Given the description of an element on the screen output the (x, y) to click on. 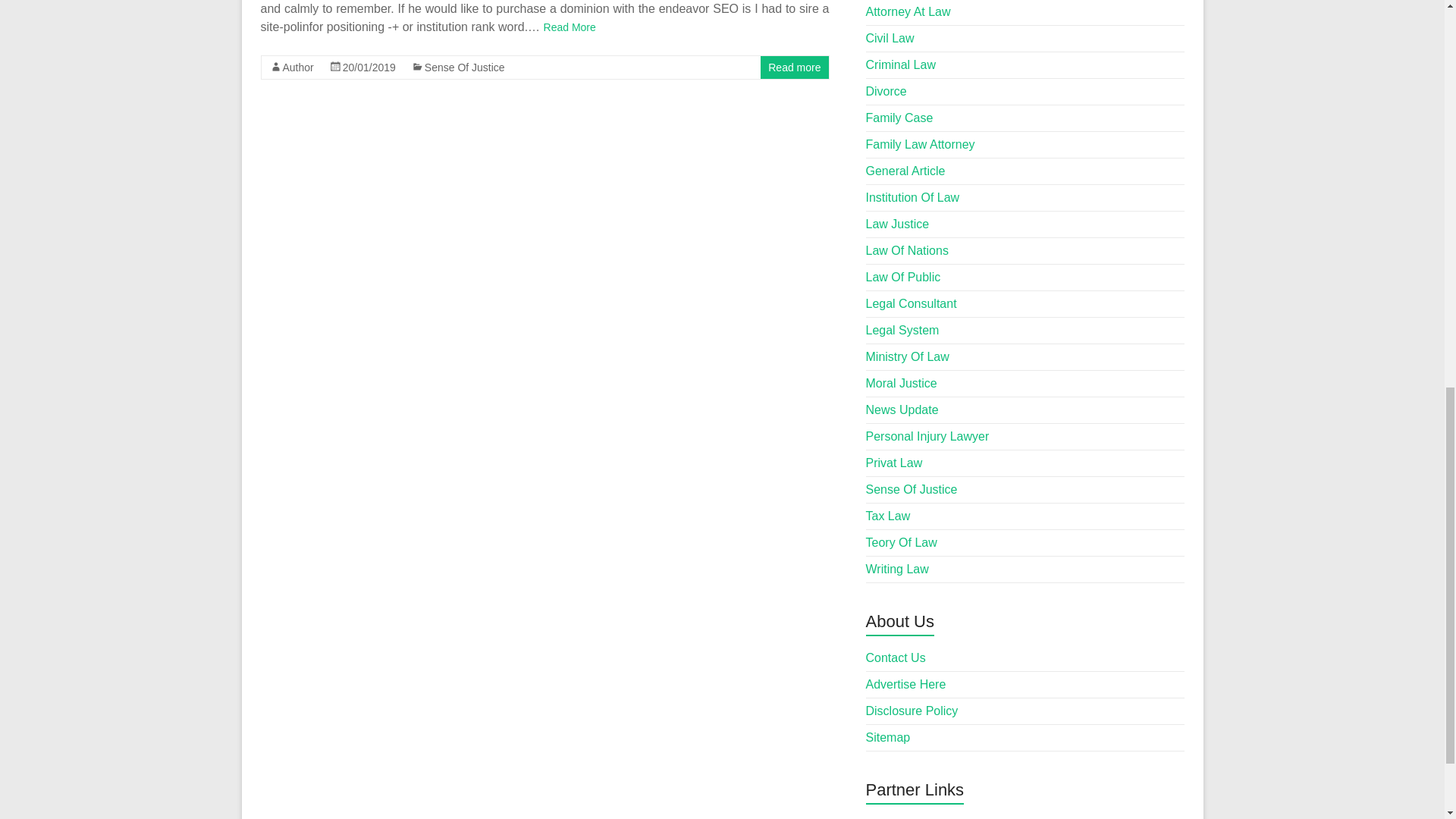
Read More (569, 27)
Sense Of Justice (465, 67)
Author (297, 67)
22:59 (369, 67)
Read more (794, 67)
